Given the description of an element on the screen output the (x, y) to click on. 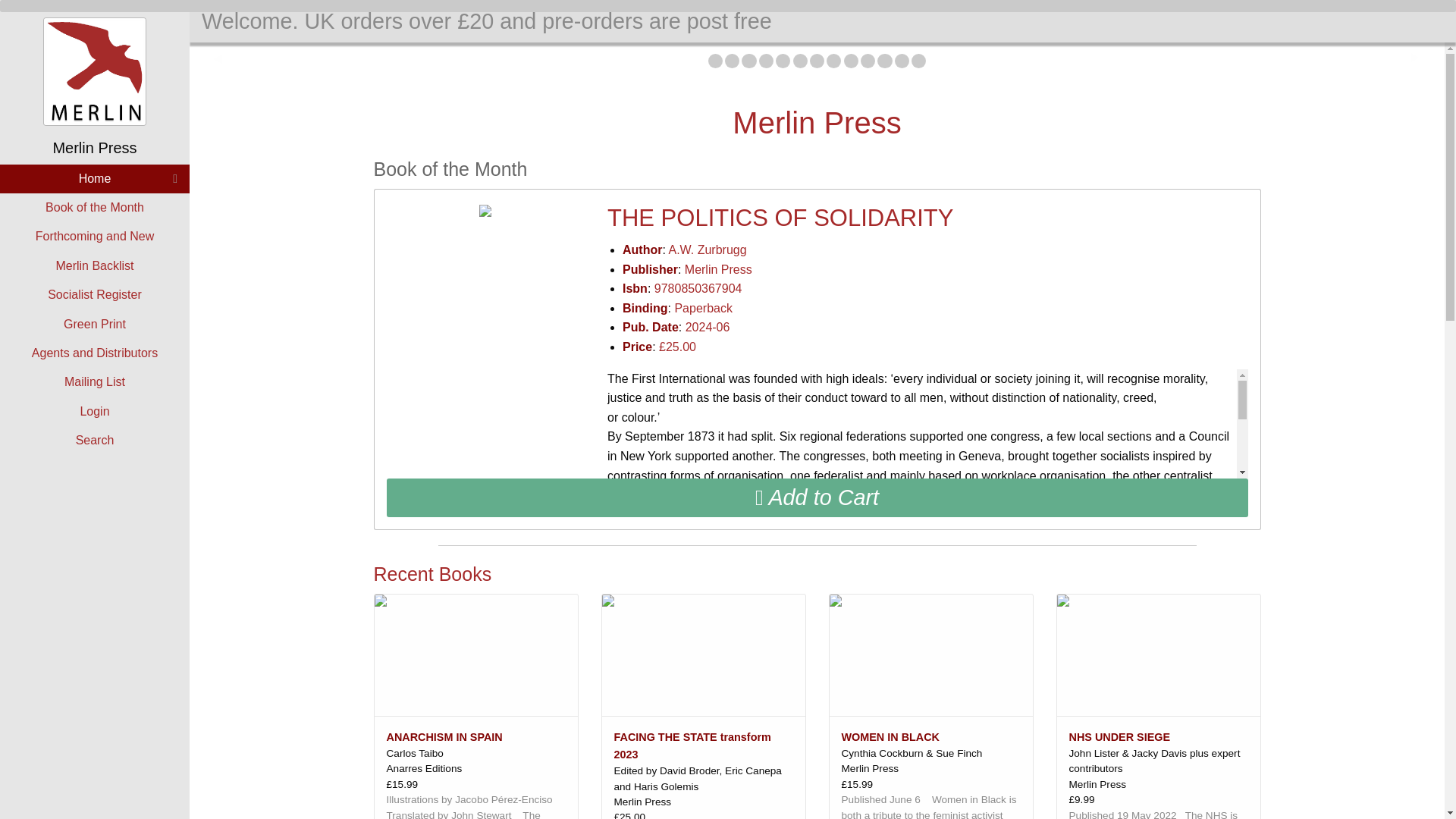
MISBEHAVING (884, 60)
A NEW GLOBAL GEOMETRY? SOCIALIST REGISTER 2024 (732, 60)
ANARCHISM IN SPAIN (748, 60)
JAMES CONNOLLY (800, 60)
Login (94, 411)
Agents and Distributors (94, 353)
Home (94, 178)
Mailing List (94, 381)
FACING THE STATE transform 2023 (765, 60)
Search (94, 440)
NHS UNDER SIEGE (816, 60)
Green Print (94, 323)
CLIMATE STRIKE (901, 60)
THE POLITICS OF SOLIDARITY (714, 60)
Add To Cart (817, 497)
